Given the description of an element on the screen output the (x, y) to click on. 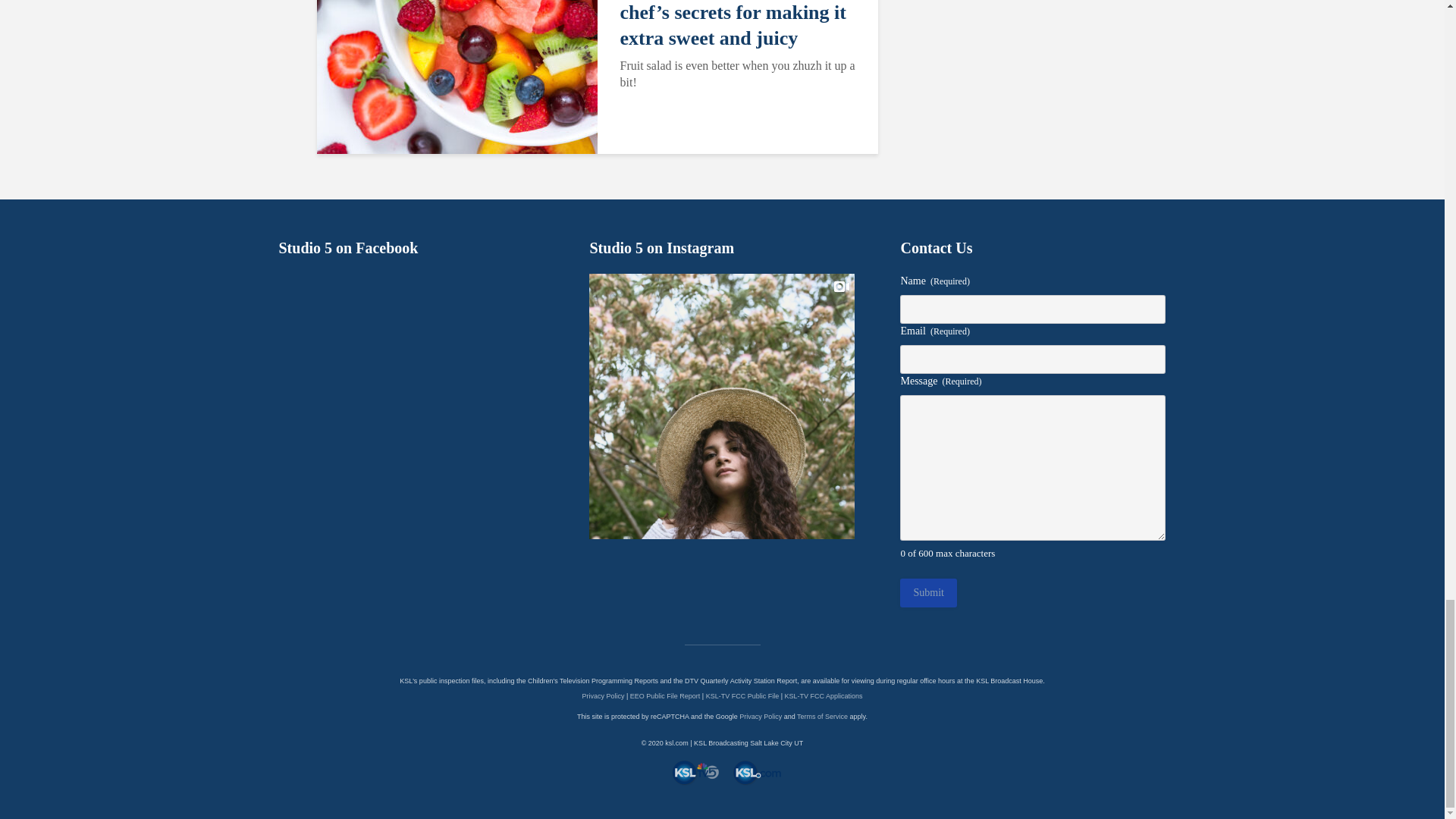
Submit (927, 592)
